Given the description of an element on the screen output the (x, y) to click on. 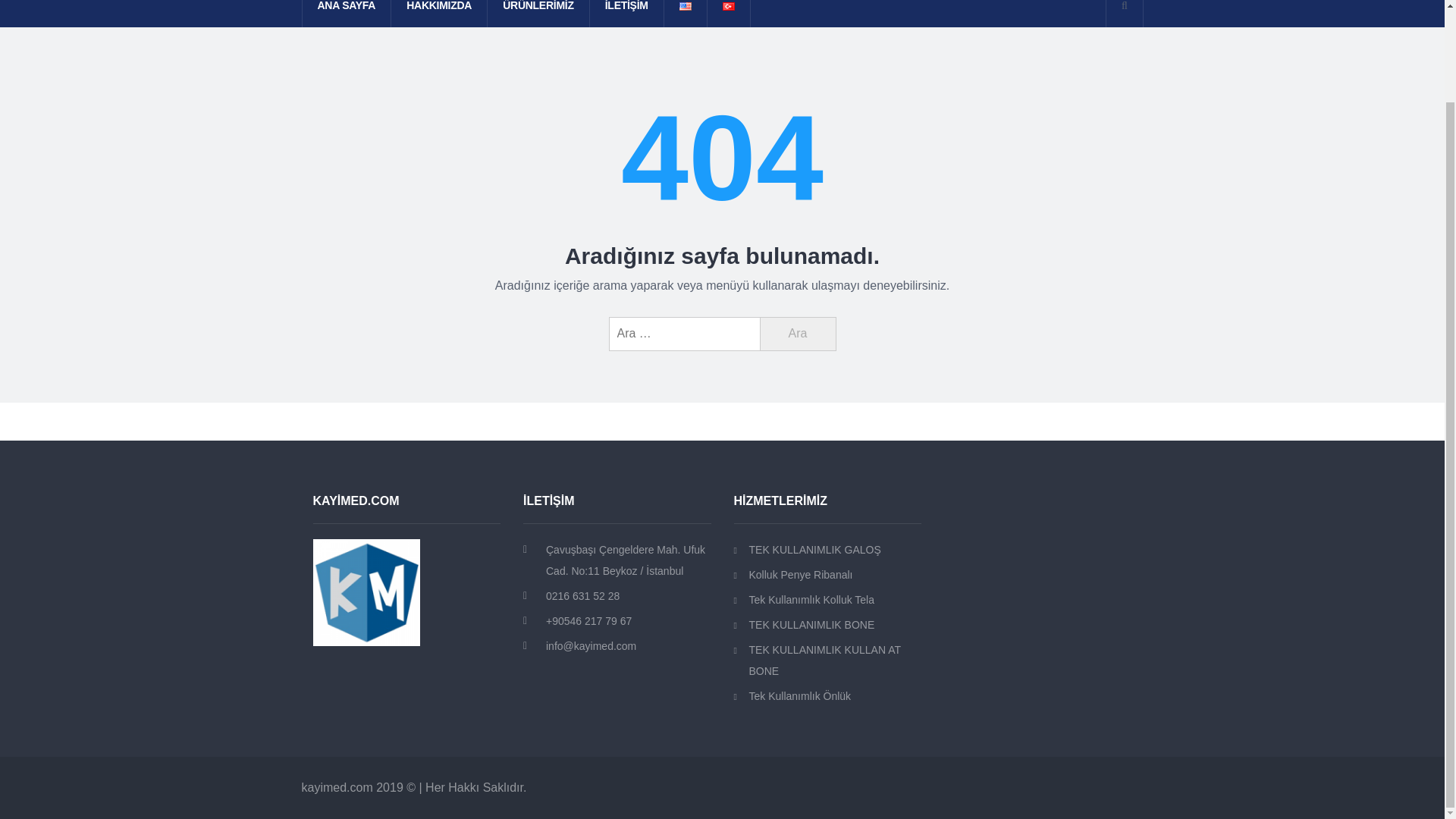
Ara (797, 333)
0216 631 52 28 (628, 595)
ANA SAYFA (346, 13)
Ara (797, 333)
TEK KULLANIMLIK KULLAN AT BONE (827, 660)
Ara (797, 333)
TEK KULLANIMLIK BONE (827, 624)
HAKKIMIZDA (438, 13)
